Given the description of an element on the screen output the (x, y) to click on. 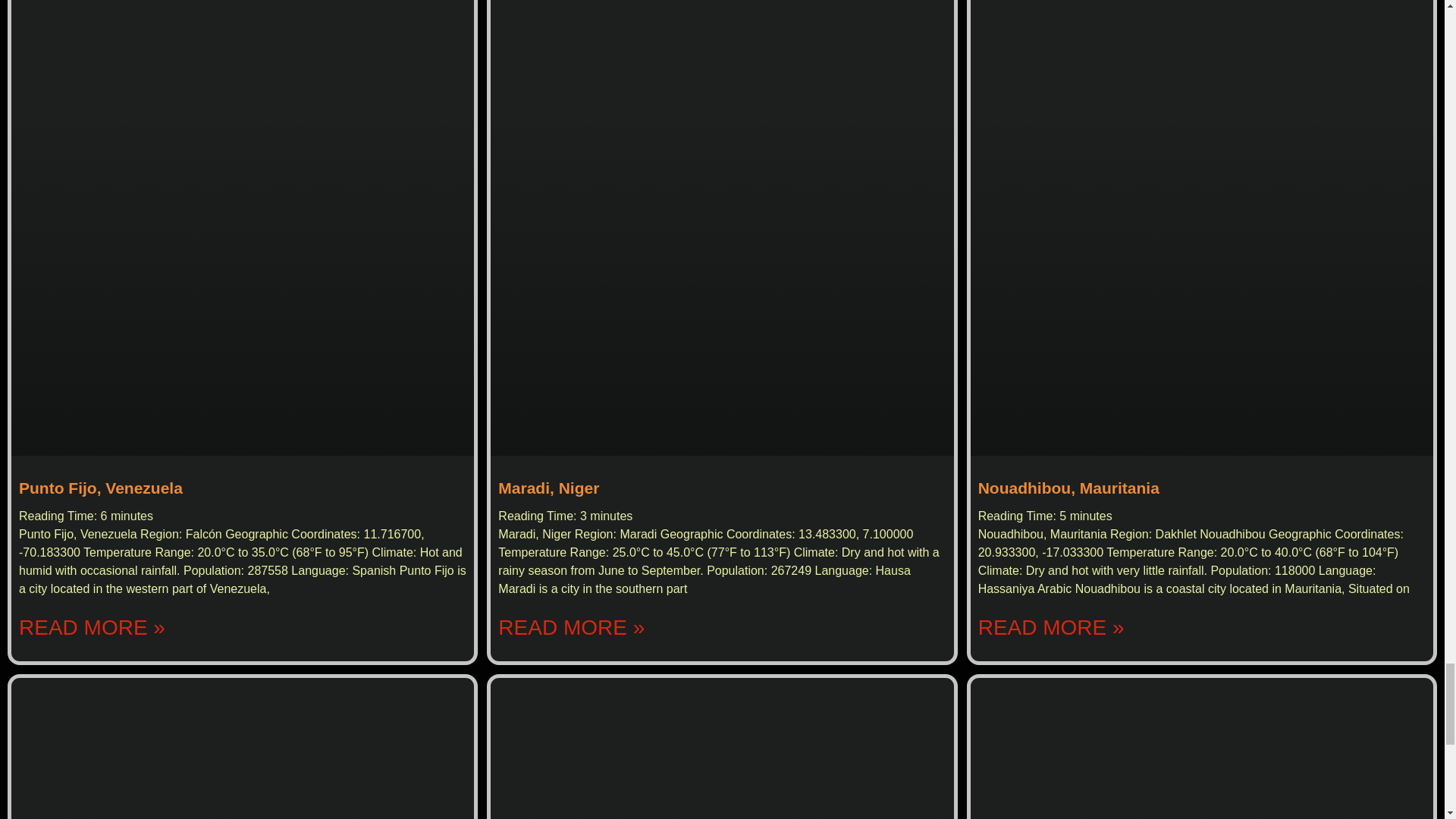
Punto Fijo, Venezuela (100, 487)
Maradi, Niger (547, 487)
Nouadhibou, Mauritania (1068, 487)
